Given the description of an element on the screen output the (x, y) to click on. 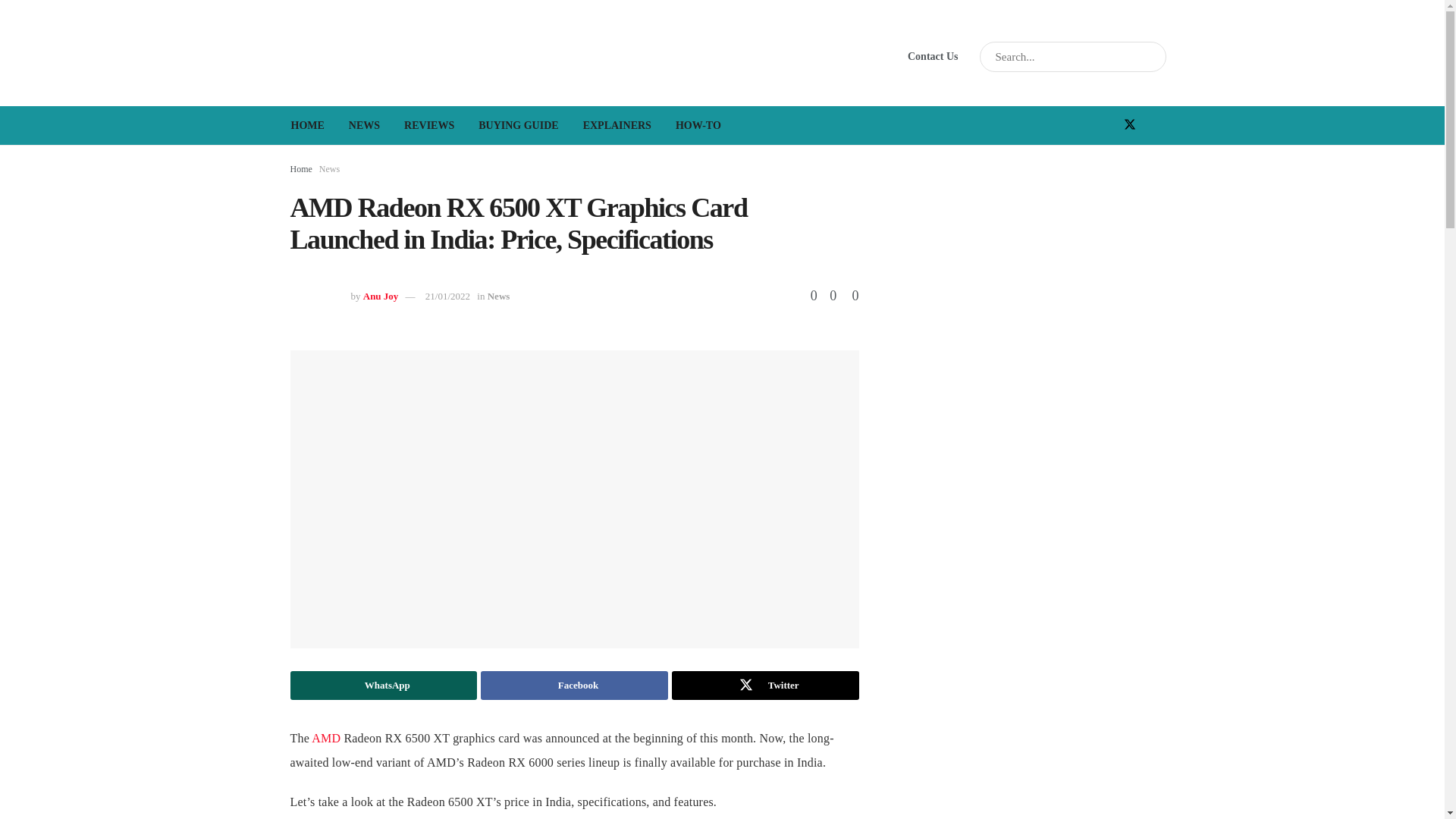
Home (300, 168)
Facebook (574, 685)
Twitter (765, 685)
News (499, 296)
HOW-TO (698, 125)
REVIEWS (428, 125)
BUYING GUIDE (517, 125)
0 (828, 295)
News (328, 168)
EXPLAINERS (616, 125)
